Given the description of an element on the screen output the (x, y) to click on. 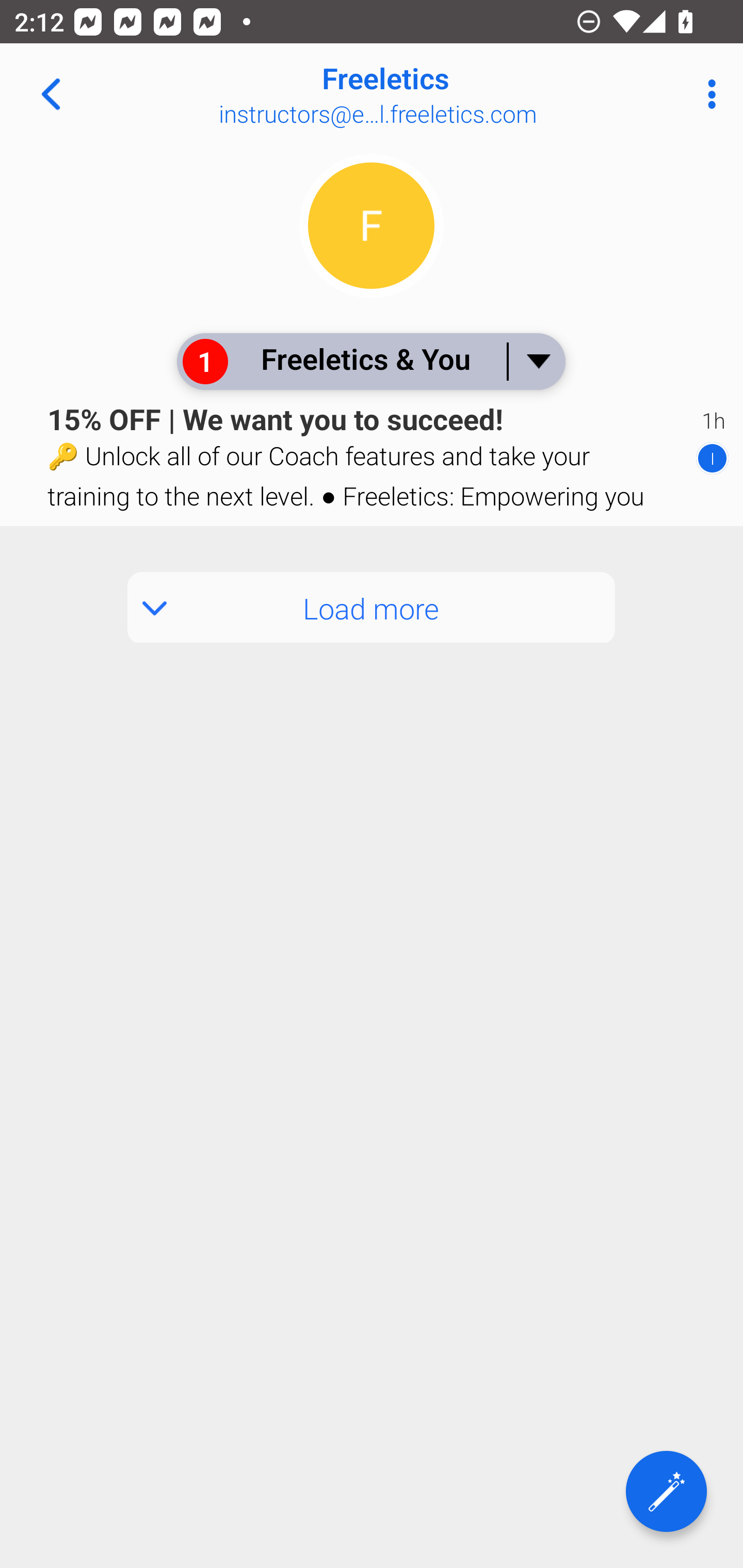
Navigate up (50, 93)
Freeletics instructors@email.freeletics.com (436, 93)
More Options (706, 93)
1 Freeletics & You (370, 361)
Load more (371, 607)
